Given the description of an element on the screen output the (x, y) to click on. 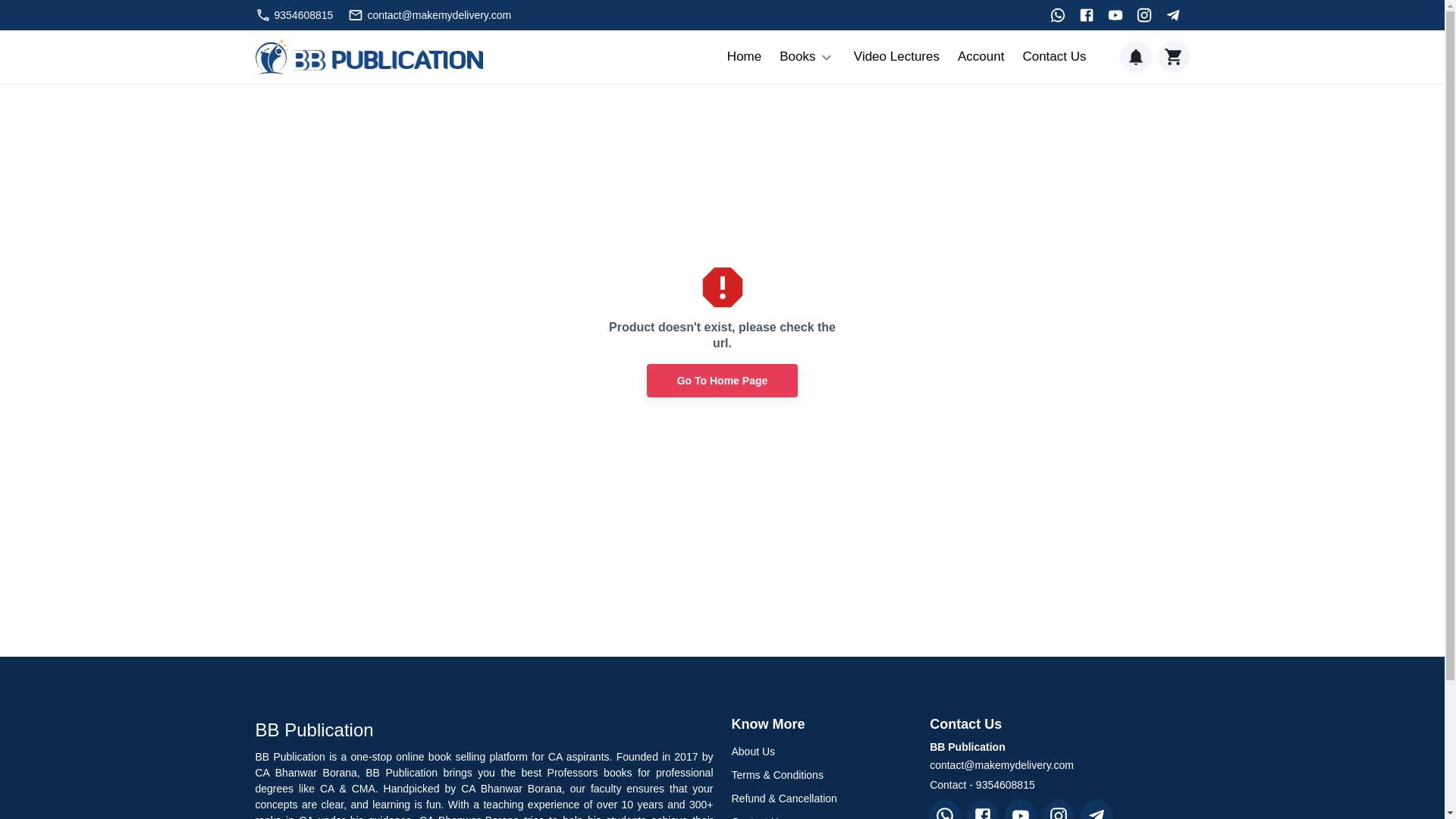
Contact Us (1054, 56)
BB Publication (483, 729)
Go To Home Page (721, 380)
Home (743, 56)
Contact Us (820, 814)
Video Lectures (896, 56)
Account (981, 56)
About Us (820, 751)
